Given the description of an element on the screen output the (x, y) to click on. 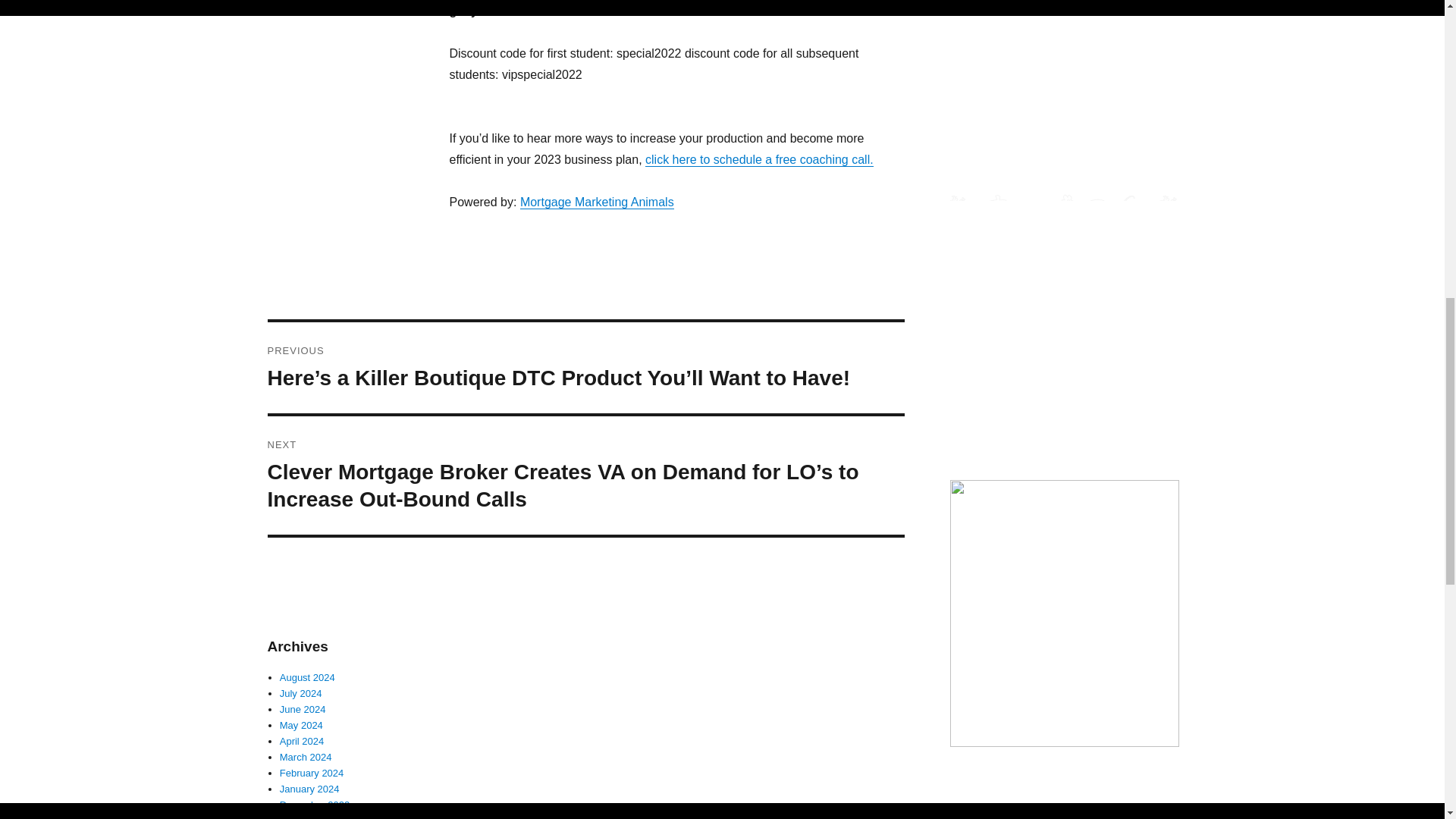
March 2024 (305, 756)
December 2023 (314, 804)
June 2024 (302, 708)
May 2024 (301, 725)
click here to schedule a free coaching call. (759, 159)
Mortgage Marketing Animals (596, 201)
August 2024 (306, 677)
April 2024 (301, 740)
July 2024 (300, 693)
January 2024 (309, 788)
